Given the description of an element on the screen output the (x, y) to click on. 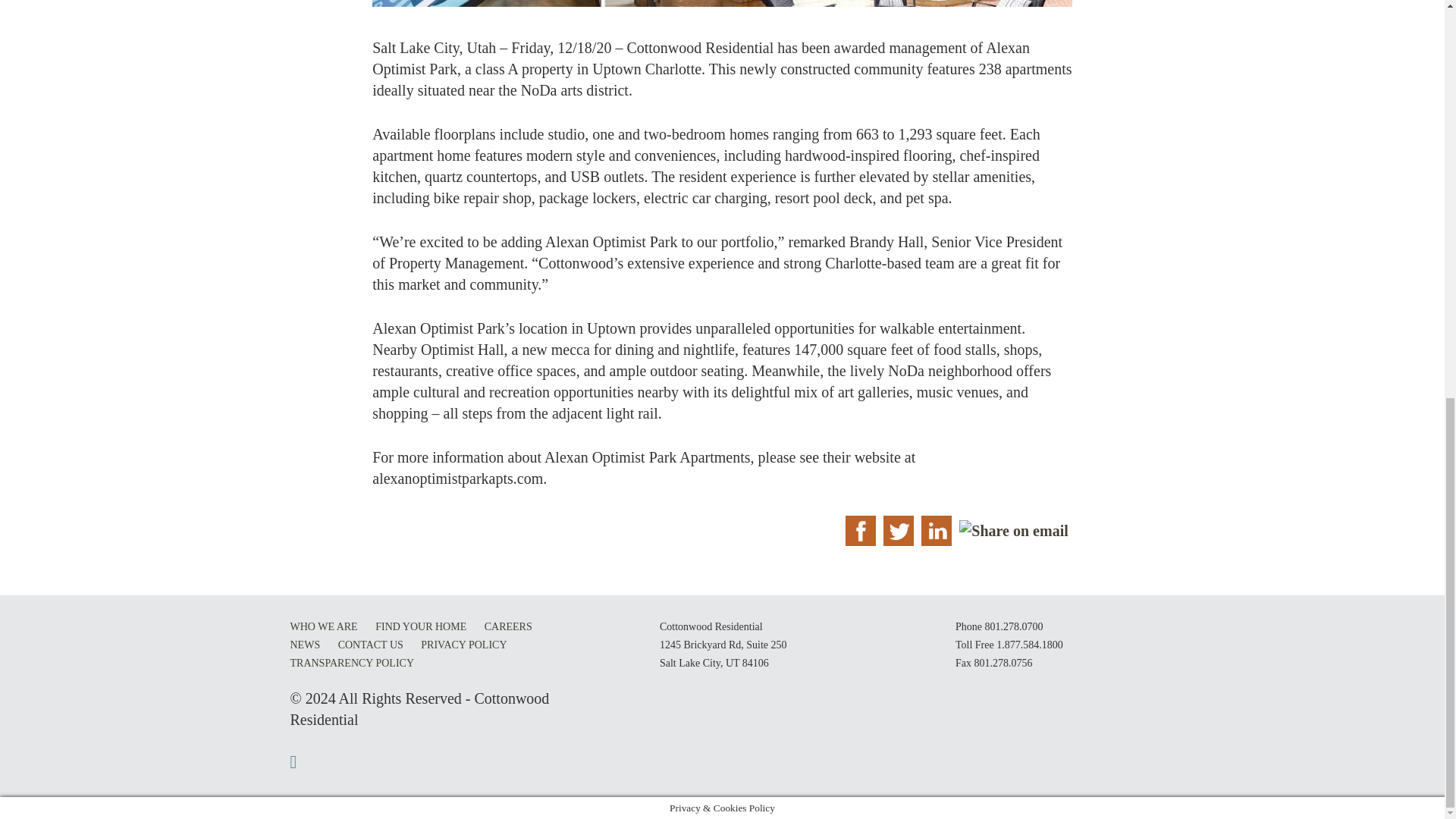
twitter (898, 530)
WHO WE ARE (322, 626)
PRIVACY POLICY (463, 644)
facebook (860, 530)
linkedin (936, 530)
email (1013, 531)
FIND YOUR HOME (420, 626)
CONTACT US (370, 644)
CAREERS (508, 626)
NEWS (304, 644)
TRANSPARENCY POLICY (351, 663)
